Given the description of an element on the screen output the (x, y) to click on. 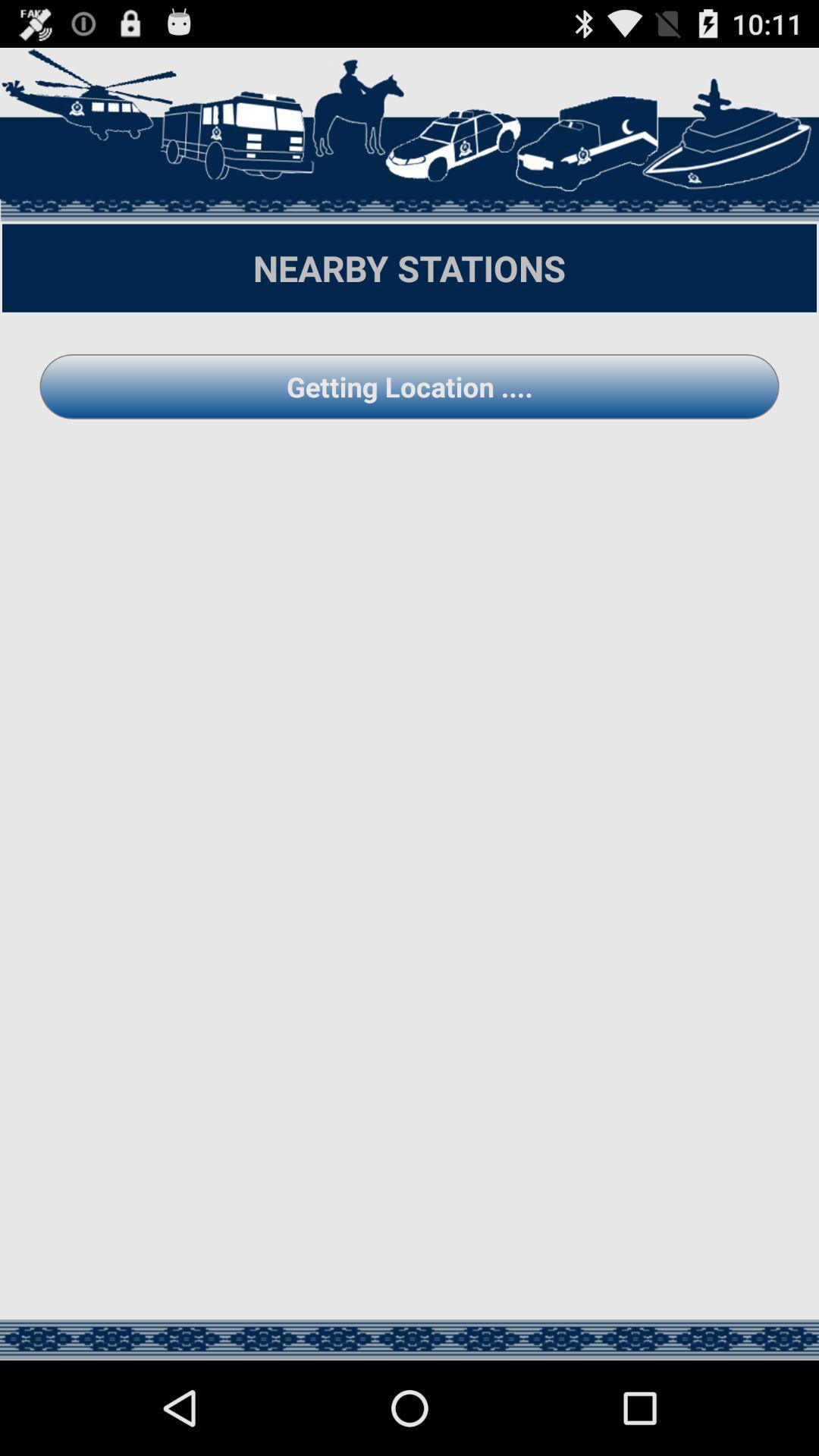
select the item below nearby stations icon (409, 386)
